Given the description of an element on the screen output the (x, y) to click on. 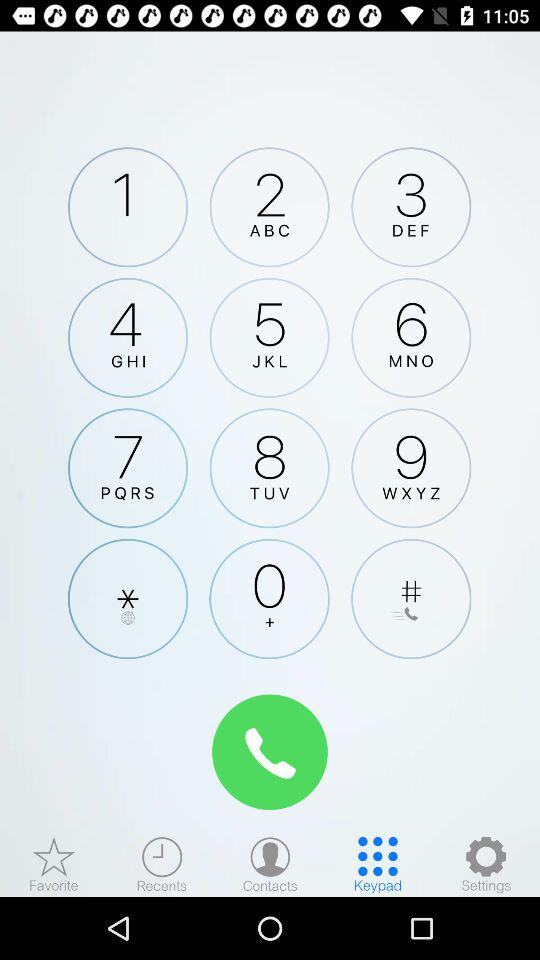
enter 4 (127, 337)
